Given the description of an element on the screen output the (x, y) to click on. 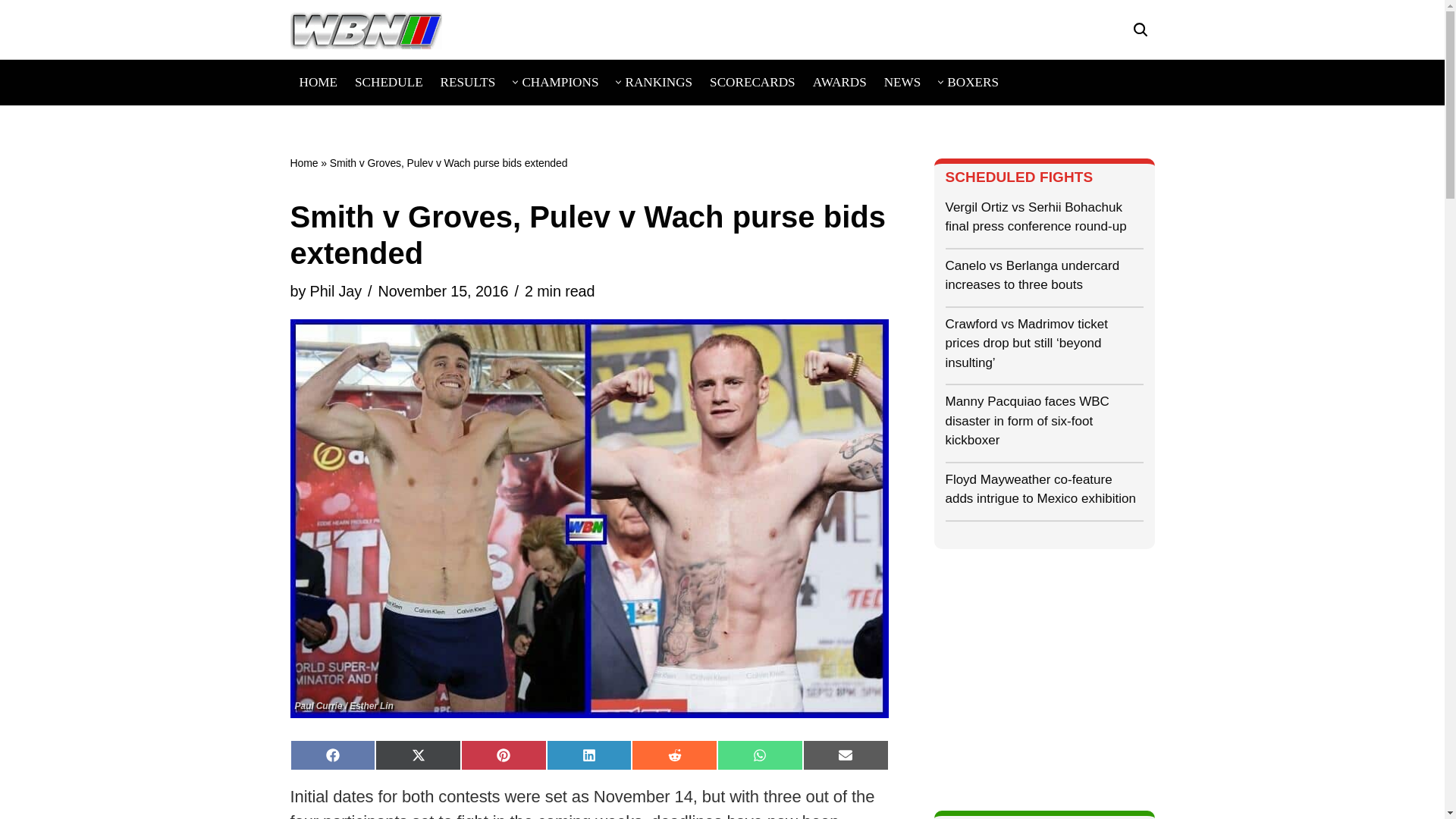
NEWS (902, 81)
CHAMPIONS (559, 81)
SCORECARDS (752, 81)
SCHEDULE (389, 81)
HOME (317, 81)
RESULTS (468, 81)
AWARDS (839, 81)
RANKINGS (658, 81)
BOXERS (972, 81)
Posts by Phil Jay (335, 290)
